Given the description of an element on the screen output the (x, y) to click on. 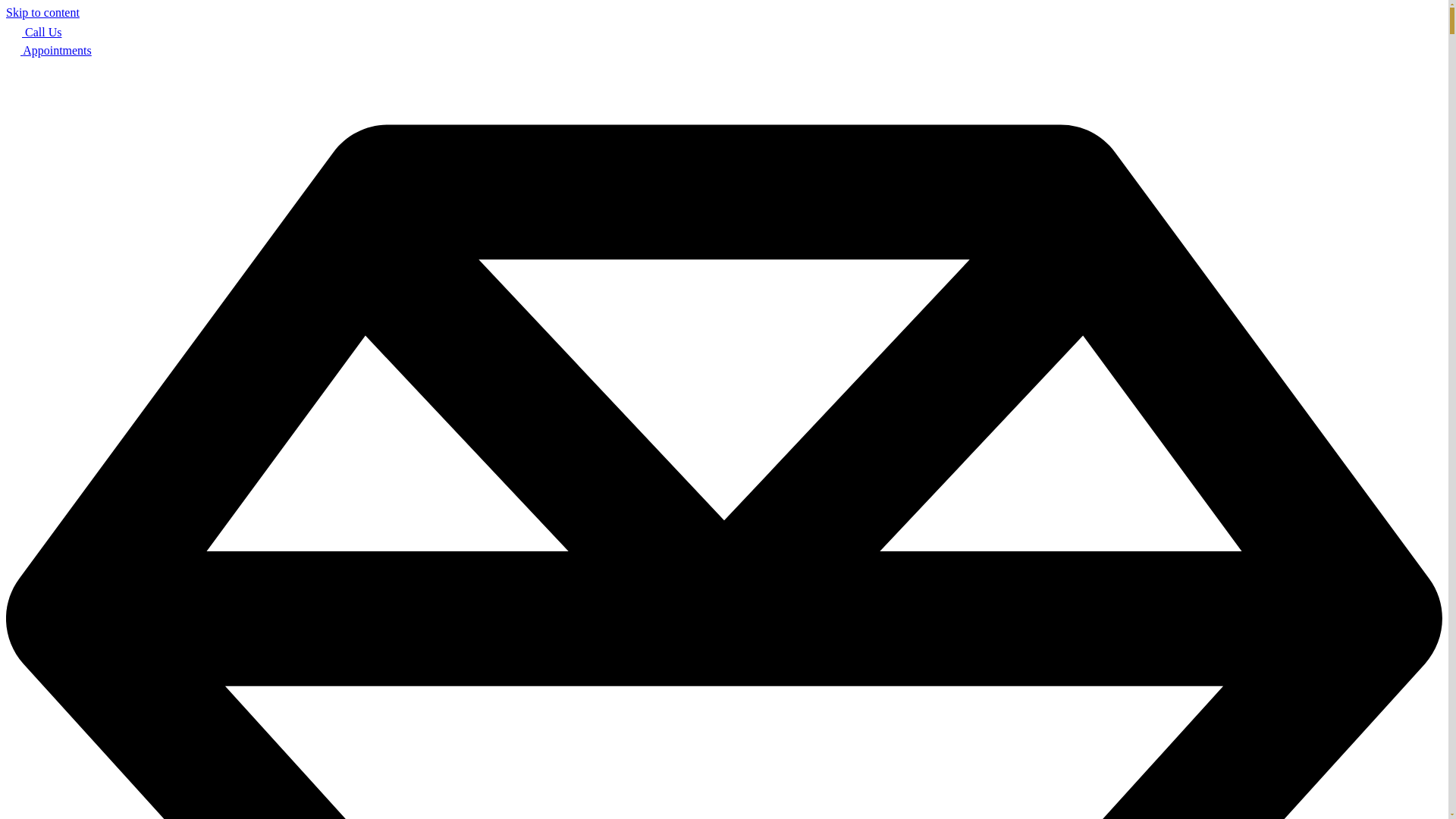
Skip to content (42, 11)
Call Us (33, 31)
Appointments (48, 50)
